Given the description of an element on the screen output the (x, y) to click on. 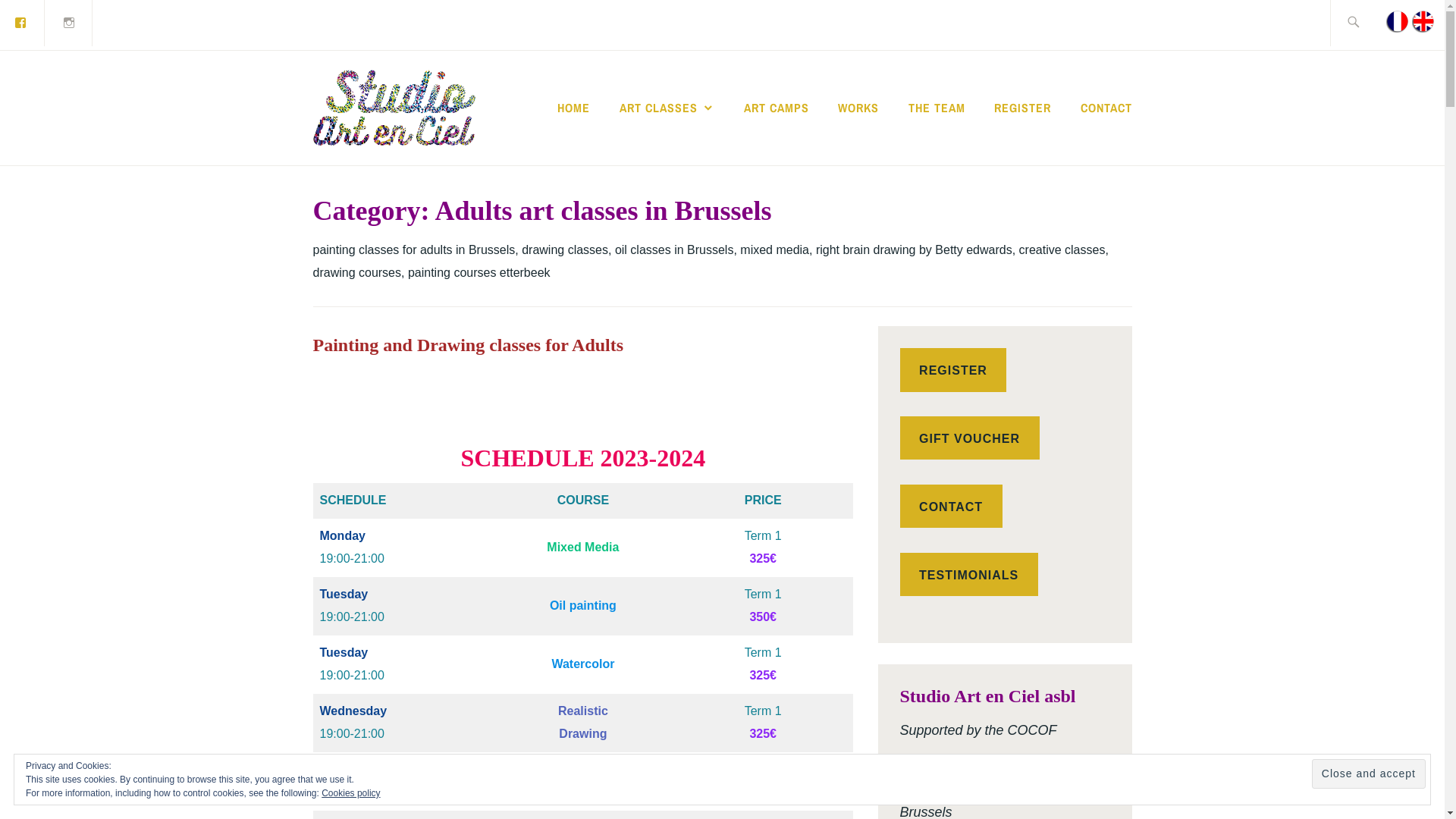
REGISTER Element type: text (952, 370)
CONTACT Element type: text (1106, 107)
THE TEAM Element type: text (936, 107)
Close and accept Element type: text (1368, 773)
REGISTER Element type: text (1022, 107)
Search for: Element type: hover (1370, 23)
Painting and Drawing classes for Adults Element type: text (467, 344)
ART CAMPS Element type: text (776, 107)
CONTACT Element type: text (950, 506)
Cookies policy Element type: text (350, 792)
HOME Element type: text (573, 107)
ART CLASSES Element type: text (667, 107)
WORKS Element type: text (857, 107)
Instagram Element type: text (68, 21)
GIFT VOUCHER Element type: text (968, 438)
Search Element type: text (47, 21)
TESTIMONIALS Element type: text (968, 574)
